Given the description of an element on the screen output the (x, y) to click on. 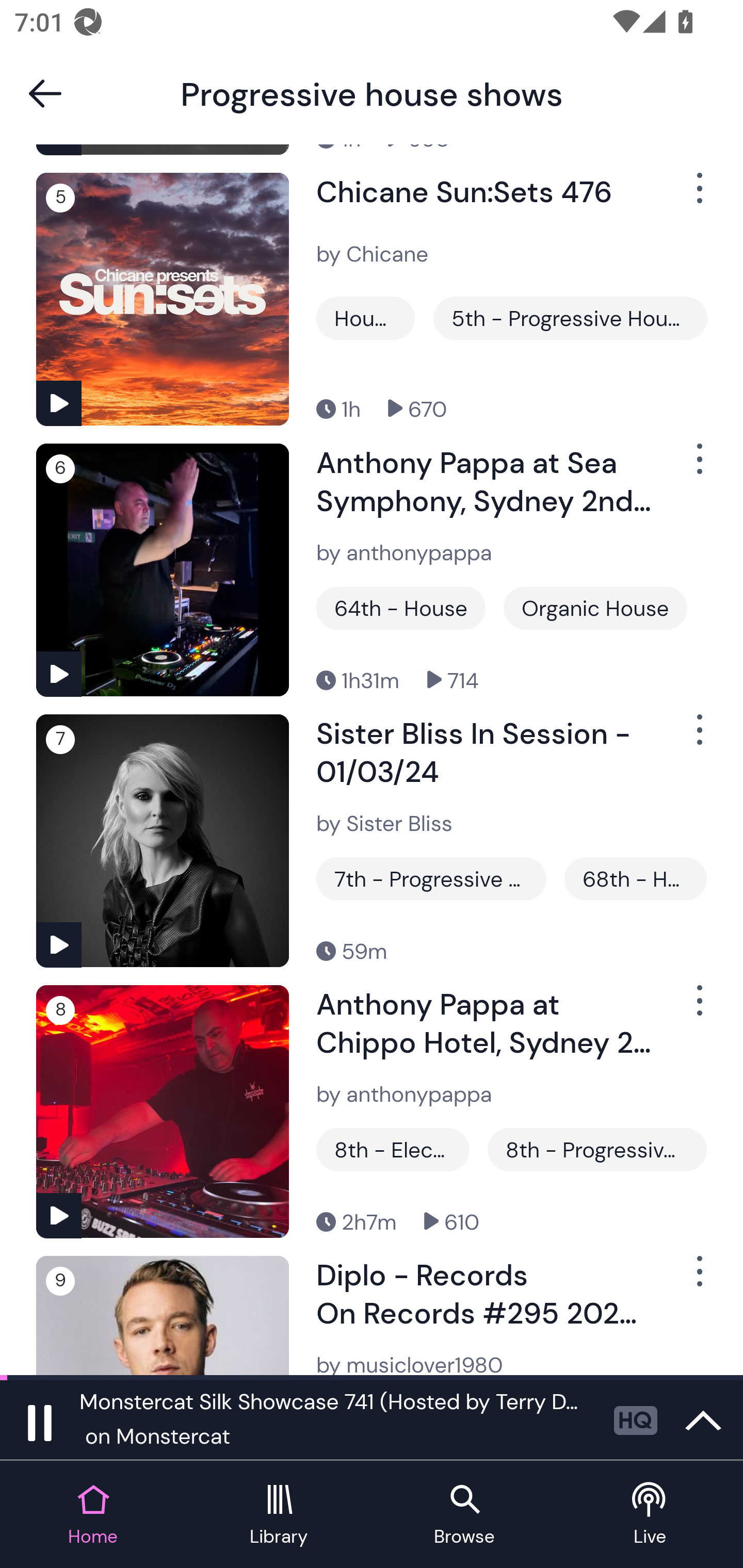
Show Options Menu Button (697, 195)
House (365, 318)
5th - Progressive House (569, 318)
Show Options Menu Button (697, 466)
64th - House (400, 608)
Organic House (595, 608)
Show Options Menu Button (697, 738)
7th - Progressive House (431, 878)
68th - House (635, 878)
Show Options Menu Button (697, 1007)
8th - Electronic (392, 1149)
8th - Progressive House (596, 1149)
Show Options Menu Button (697, 1279)
Home tab Home (92, 1515)
Library tab Library (278, 1515)
Browse tab Browse (464, 1515)
Live tab Live (650, 1515)
